Given the description of an element on the screen output the (x, y) to click on. 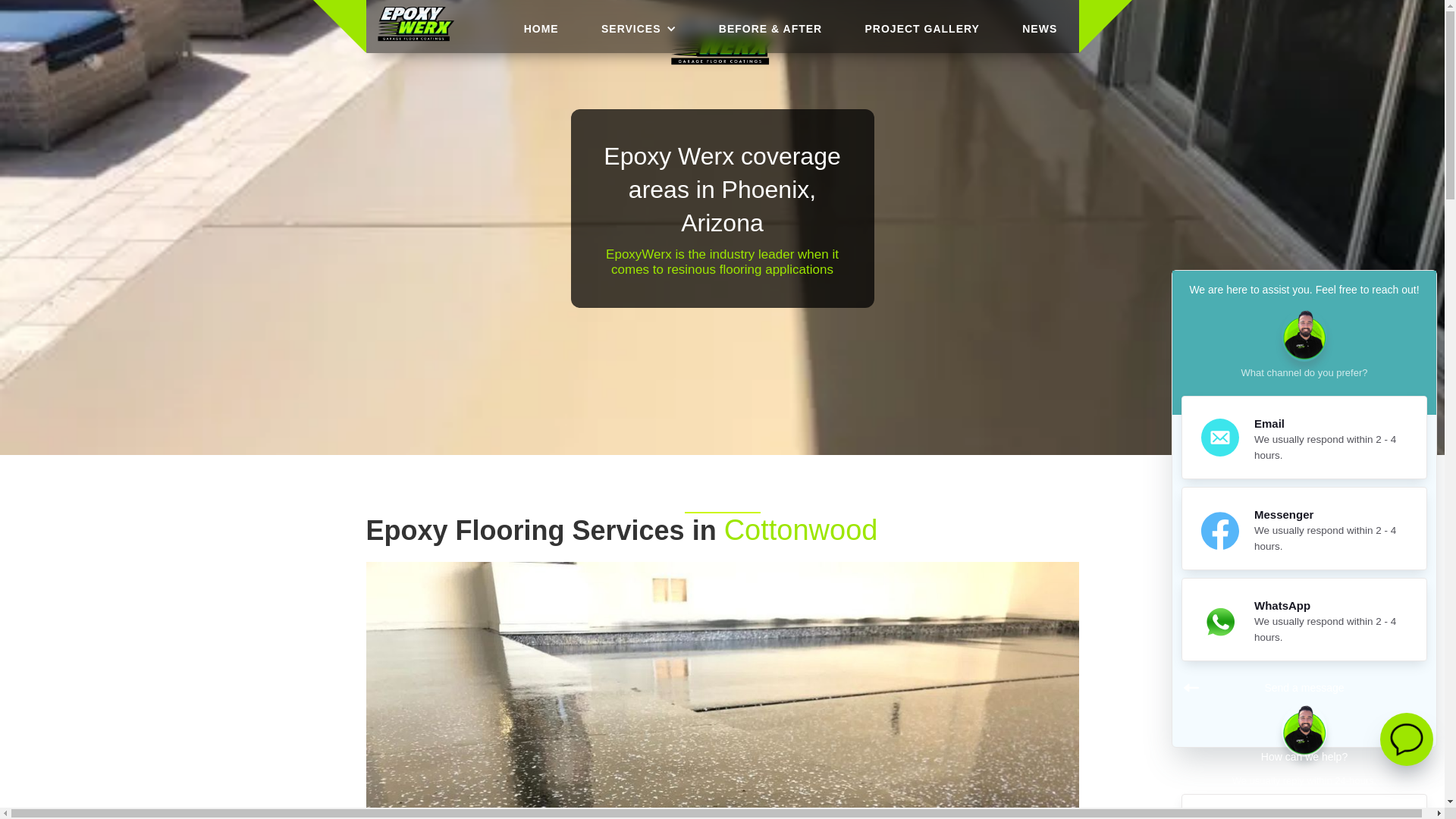
PROJECT GALLERY (922, 26)
HOME (540, 26)
mail50 (1303, 619)
NEWS (1303, 528)
